Given the description of an element on the screen output the (x, y) to click on. 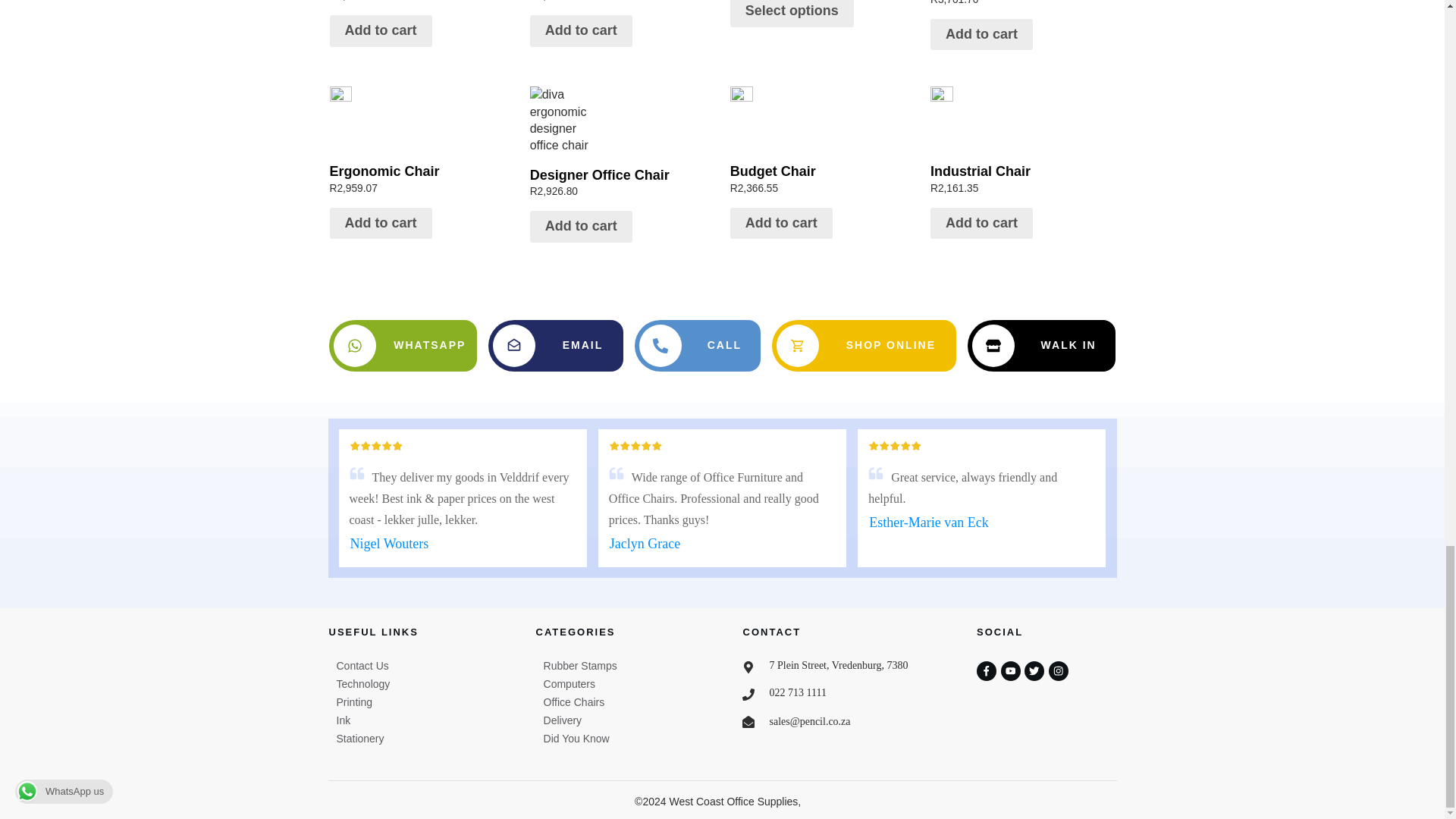
Add to cart (580, 30)
Add to cart (421, 4)
Add to cart (621, 4)
Add to cart (379, 223)
Select options (421, 143)
